Given the description of an element on the screen output the (x, y) to click on. 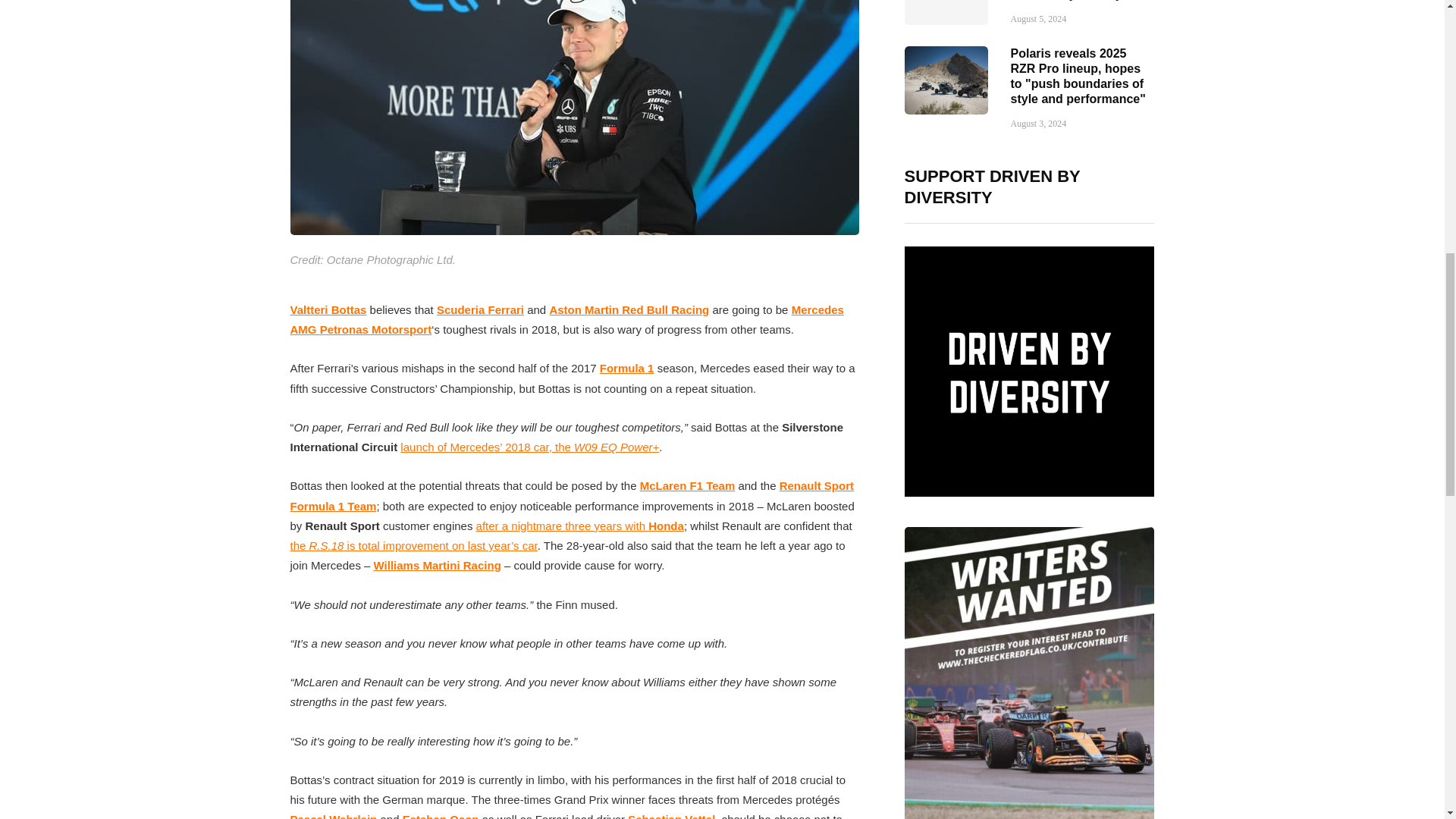
Support Driven by Diversity (1029, 371)
